Given the description of an element on the screen output the (x, y) to click on. 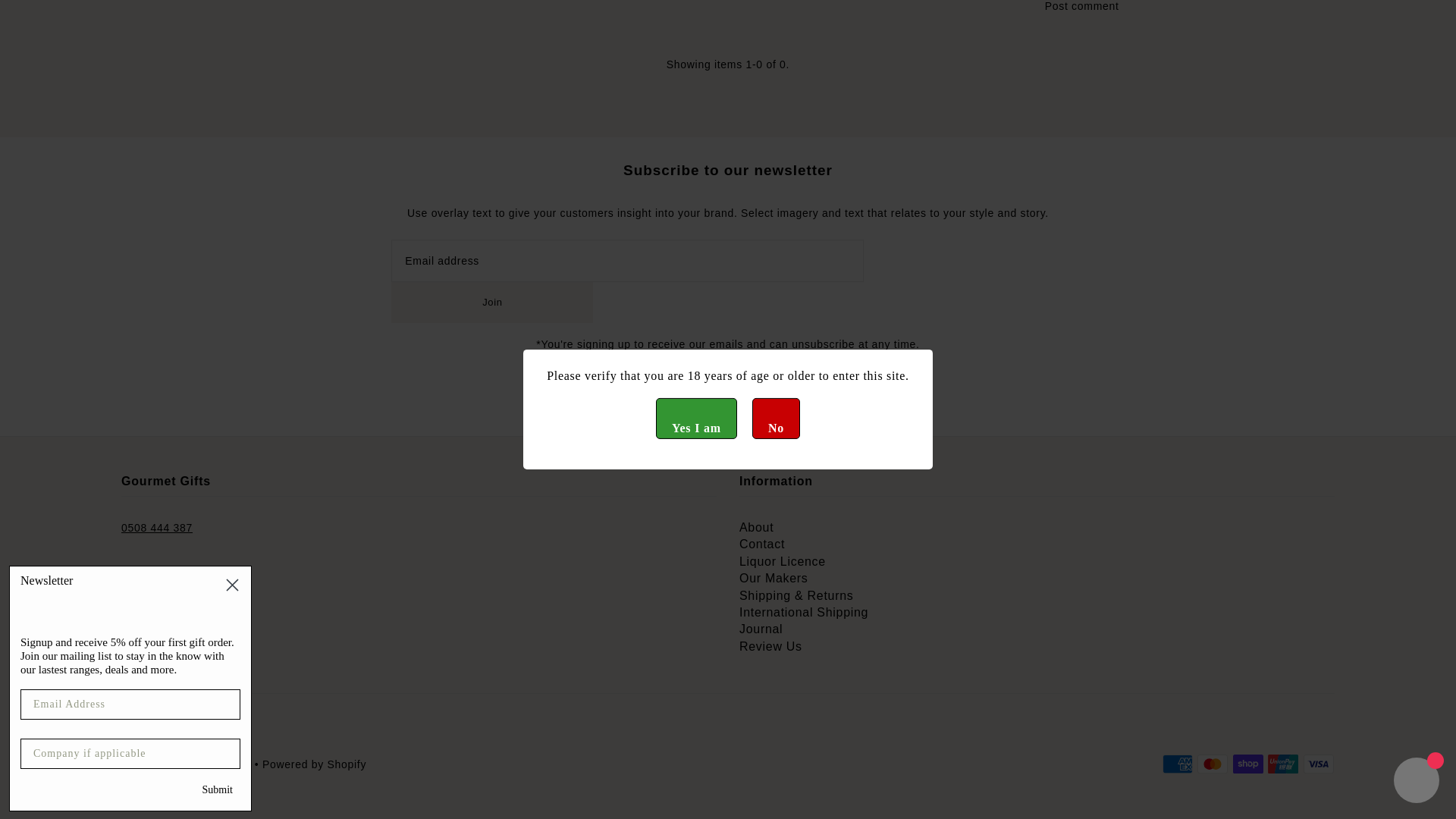
Visa (1318, 763)
Shop Pay (1248, 763)
Mastercard (1211, 763)
Union Pay (1283, 763)
American Express (1176, 763)
